Given the description of an element on the screen output the (x, y) to click on. 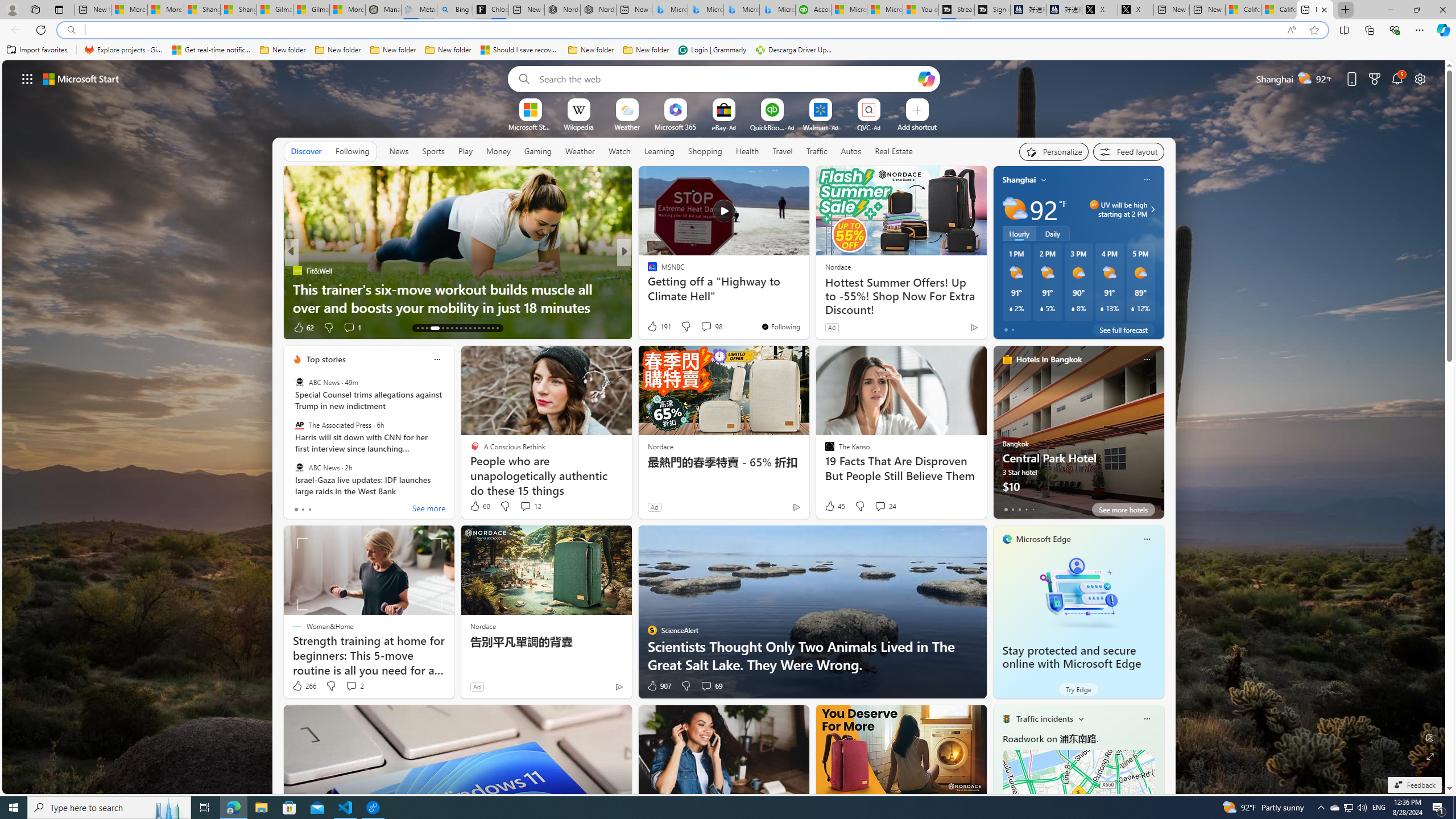
Add a site (916, 126)
AutomationID: tab-17 (440, 328)
View comments 7 Comment (702, 327)
Stay protected and secure online with Microsoft Edge (1071, 657)
Edit Background (1430, 737)
266 Like (303, 685)
AutomationID: tab-16 (432, 328)
